Given the description of an element on the screen output the (x, y) to click on. 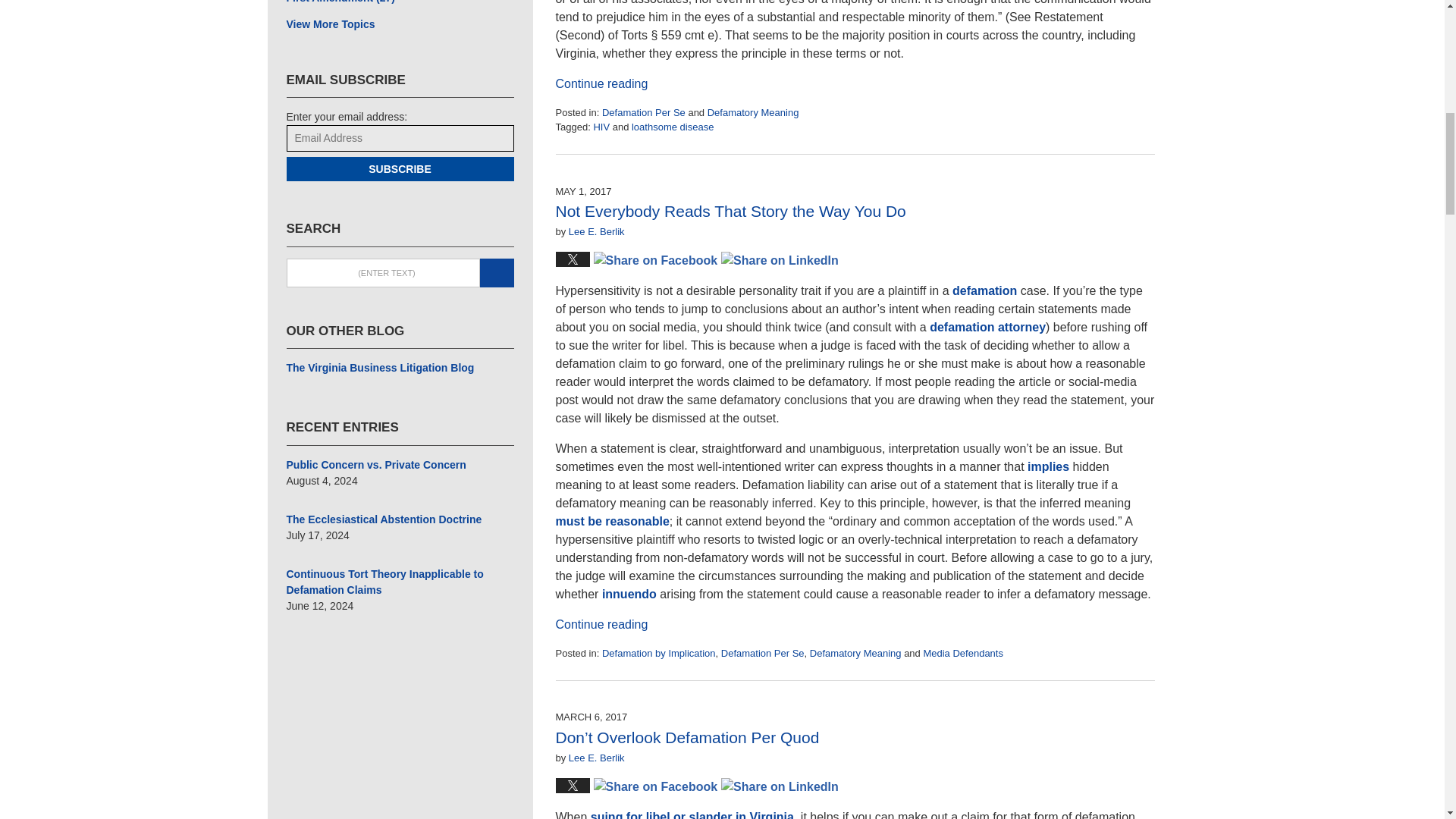
HIV (601, 126)
View all posts in Defamation Per Se (643, 112)
implies (1047, 466)
View all posts tagged with loathsome disease (672, 126)
Continue reading (600, 83)
View all posts in Defamation by Implication (659, 653)
innuendo (629, 594)
loathsome disease (672, 126)
View all posts tagged with HIV (601, 126)
defamation (984, 290)
